Given the description of an element on the screen output the (x, y) to click on. 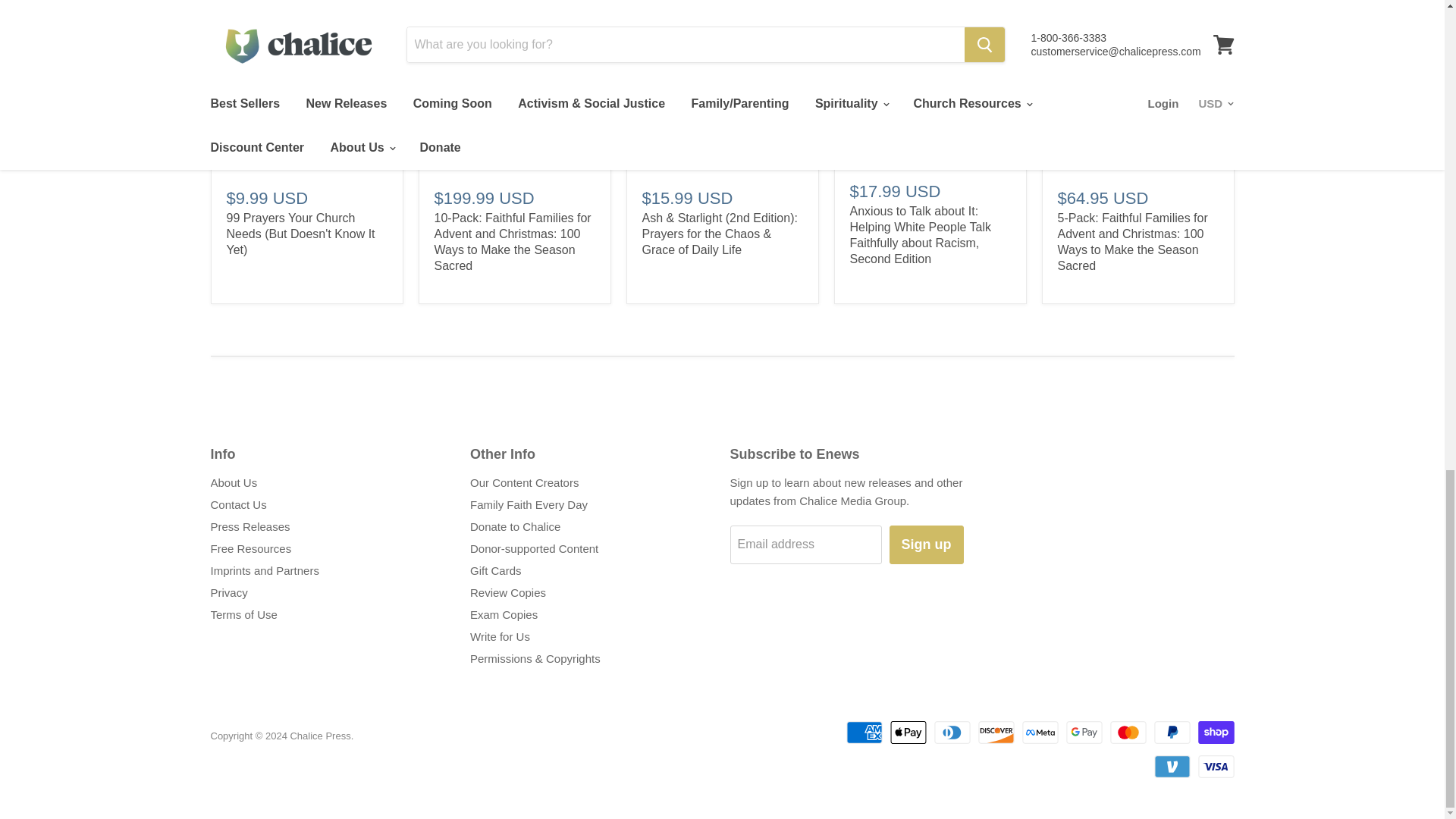
PayPal (1172, 732)
Google Pay (1083, 732)
Discover (996, 732)
Apple Pay (907, 732)
Diners Club (952, 732)
Mastercard (1128, 732)
American Express (863, 732)
Meta Pay (1040, 732)
